Given the description of an element on the screen output the (x, y) to click on. 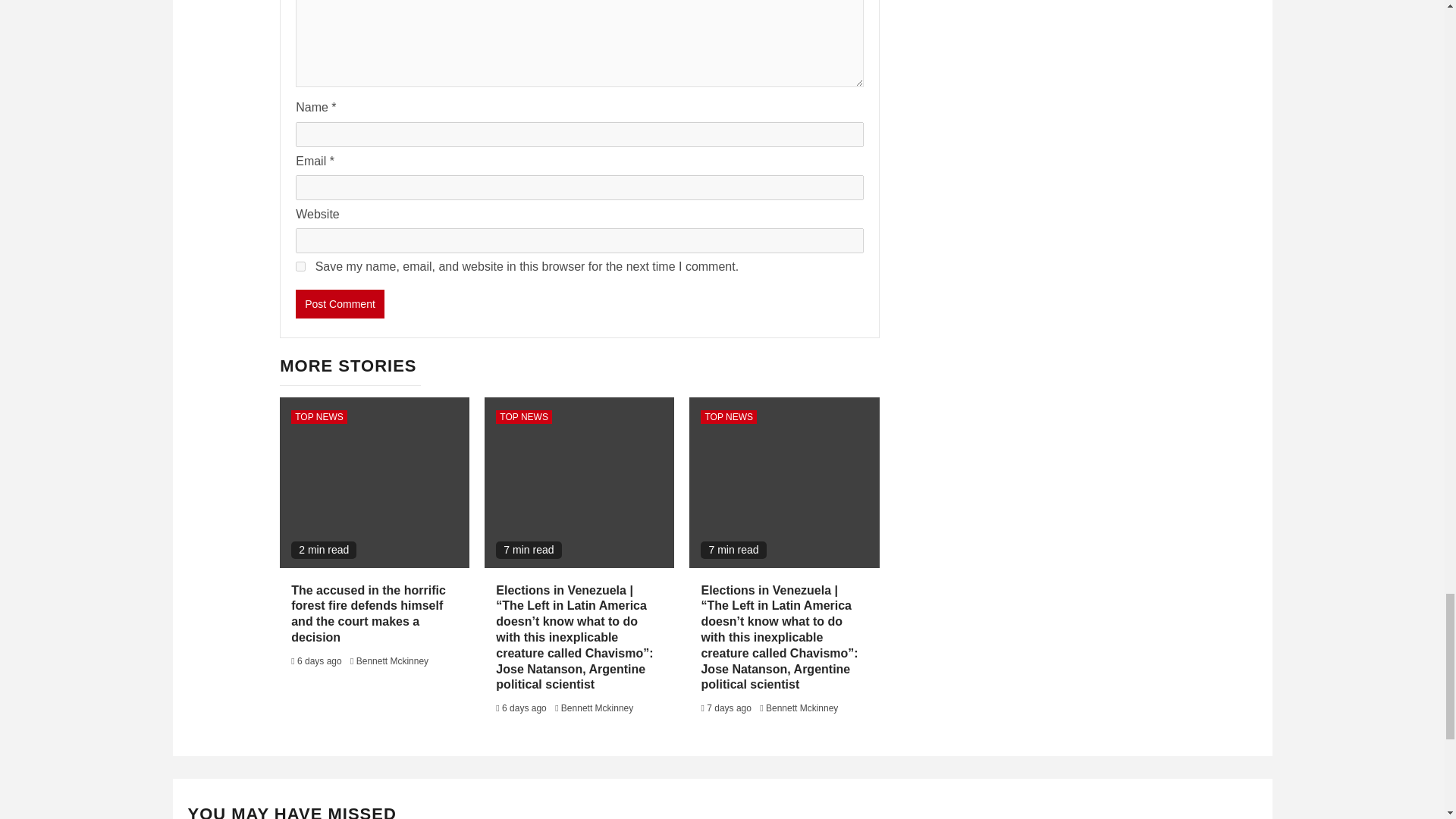
TOP NEWS (523, 417)
Bennett Mckinney (596, 707)
yes (300, 266)
Post Comment (339, 303)
Bennett Mckinney (392, 661)
Bennett Mckinney (801, 707)
TOP NEWS (728, 417)
TOP NEWS (319, 417)
Post Comment (339, 303)
